Given the description of an element on the screen output the (x, y) to click on. 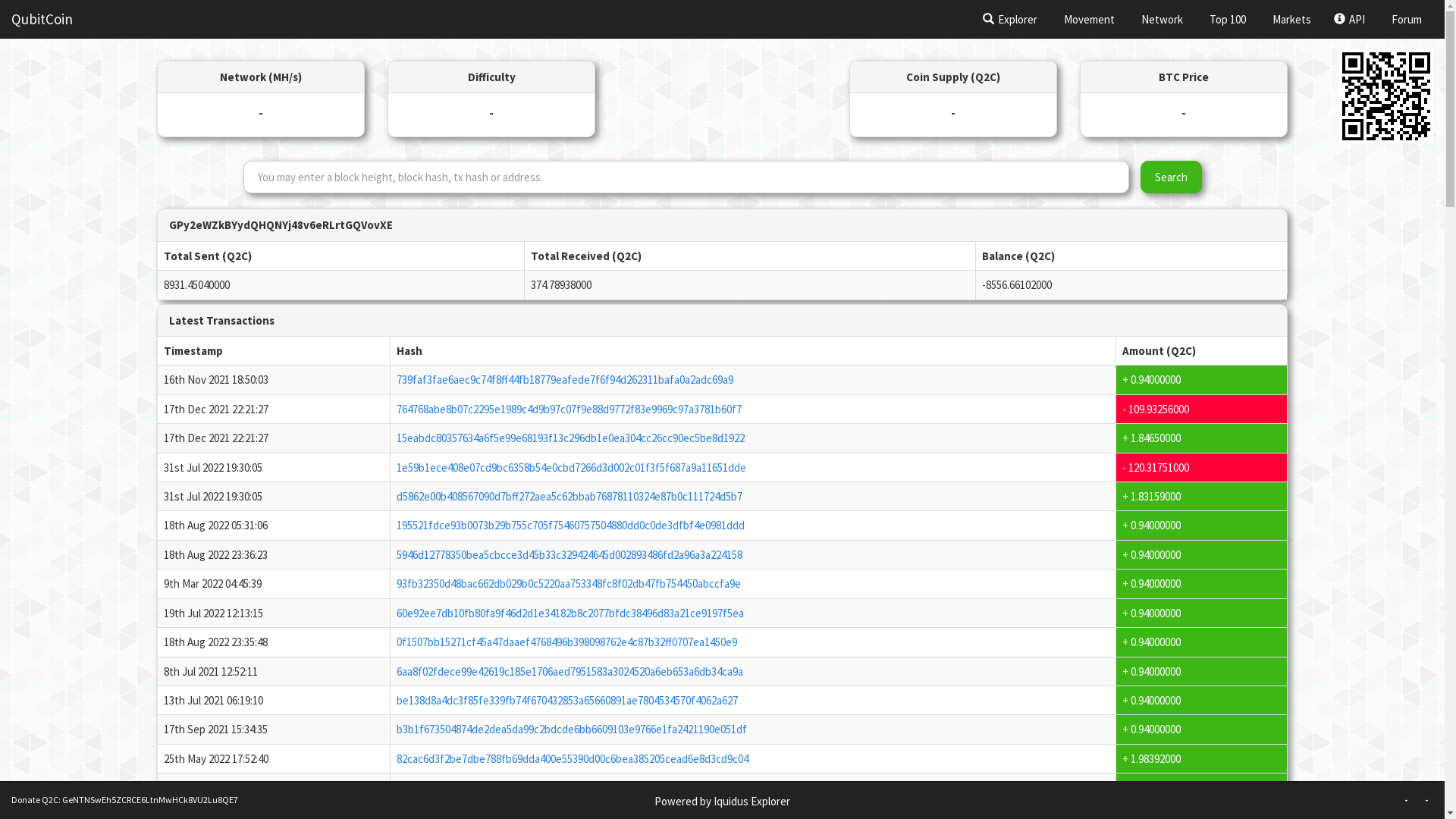
Forum Element type: text (1404, 18)
Powered by Iquidus Explorer Element type: text (722, 800)
API Element type: text (1349, 18)
Markets Element type: text (1289, 18)
QubitCoin Element type: text (42, 18)
Movement Element type: text (1087, 18)
Network Element type: text (1160, 18)
Search Element type: text (1170, 176)
Top 100 Element type: text (1225, 18)
Explorer Element type: text (1009, 18)
